Given the description of an element on the screen output the (x, y) to click on. 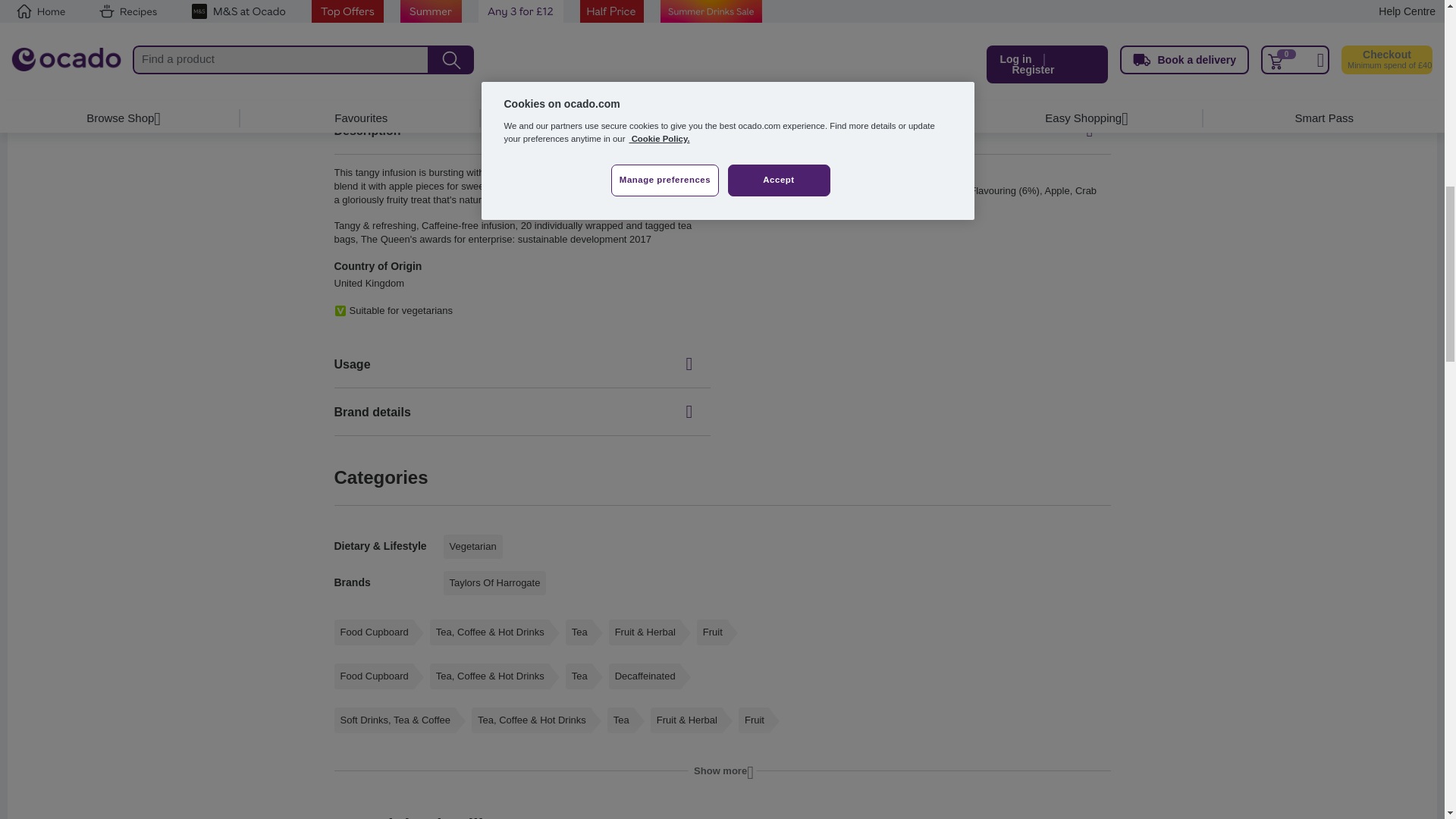
Suitable for vegetarians (980, 3)
Reviews 4.30 out of 5 (369, 21)
Suitable for vegetarians (347, 3)
Add to trolley (482, 17)
Reviews 4.50 out of 5 (793, 21)
Suitable for vegetarians (769, 3)
Reviews 3.50 out of 5 (575, 21)
